Given the description of an element on the screen output the (x, y) to click on. 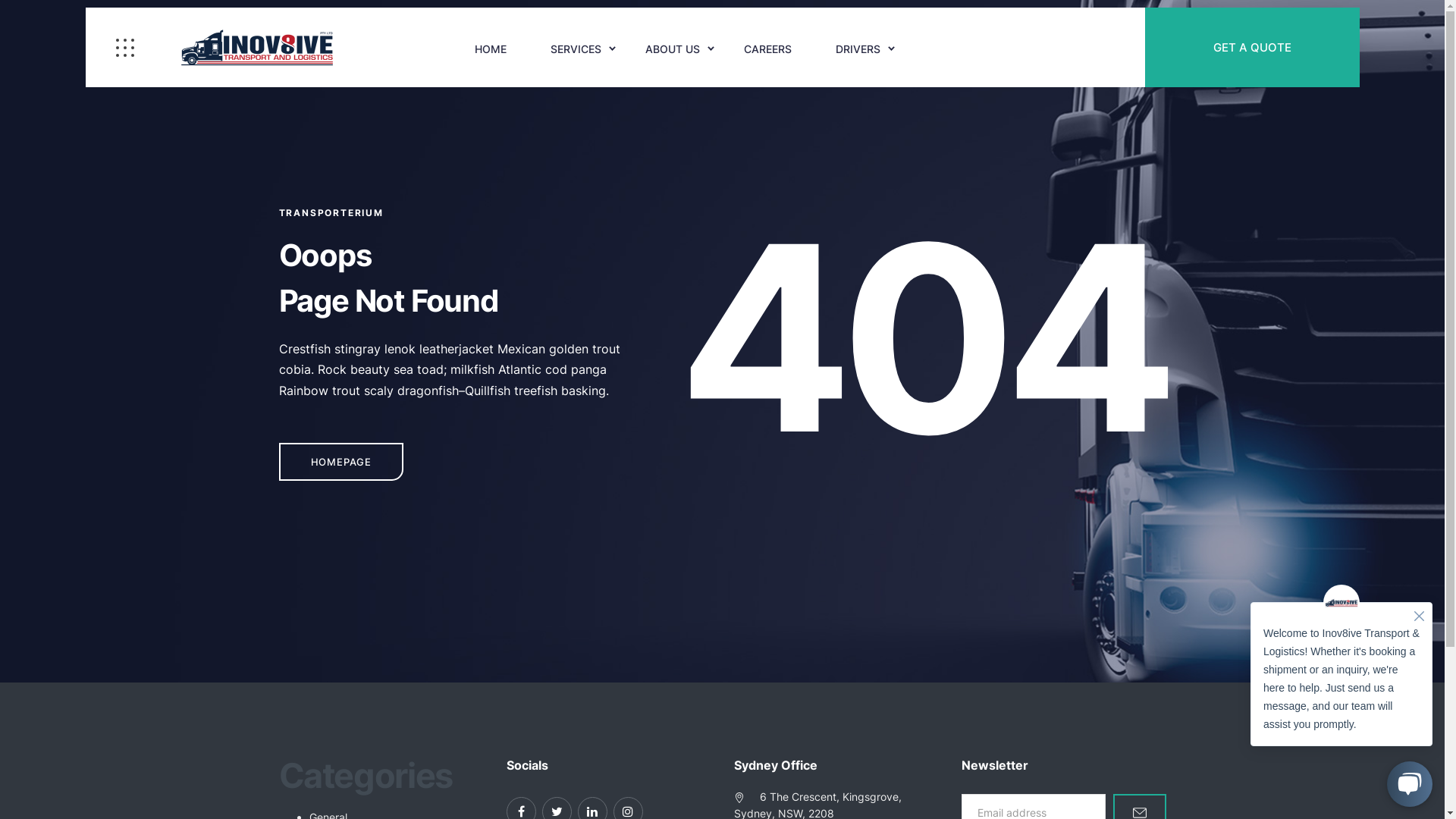
HOME Element type: text (490, 48)
CAREERS Element type: text (767, 48)
ABOUT US Element type: text (672, 48)
DRIVERS Element type: text (857, 48)
HOMEPAGE Element type: text (341, 461)
SERVICES Element type: text (575, 48)
GET A QUOTE Element type: text (1252, 47)
